Given the description of an element on the screen output the (x, y) to click on. 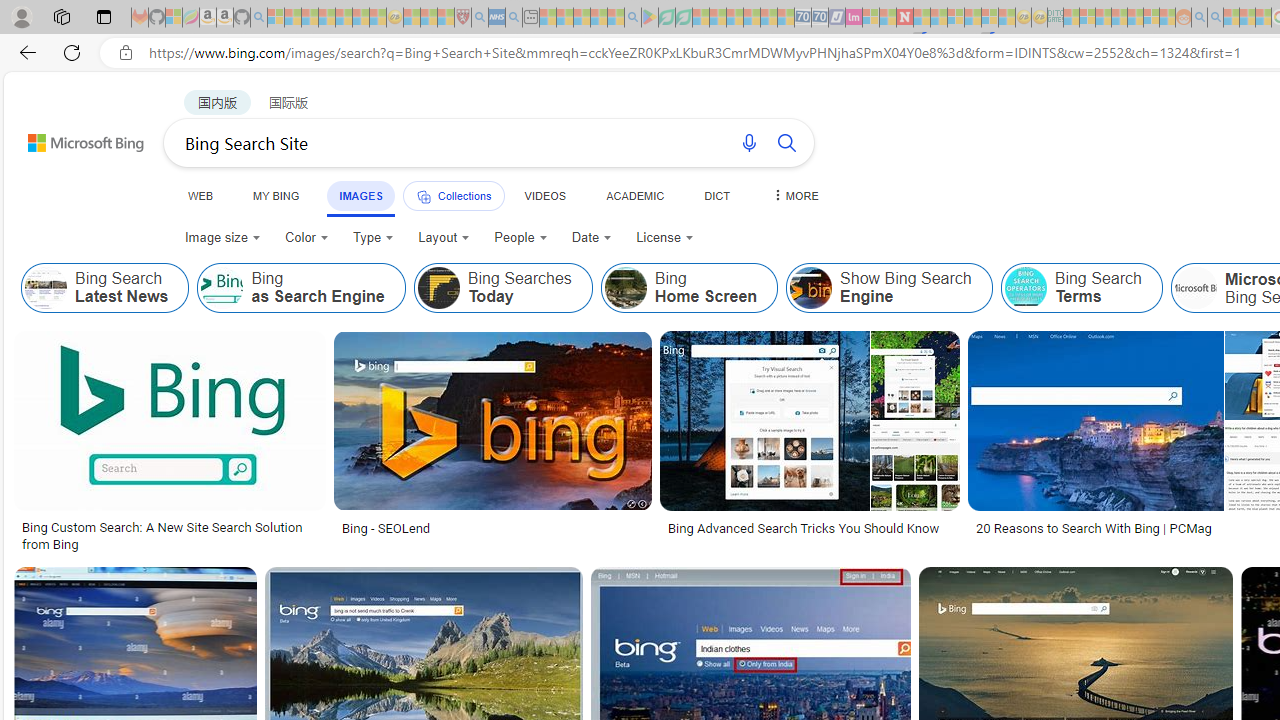
Dropdown Menu (793, 195)
Color (305, 237)
ACADEMIC (635, 195)
WEB (201, 195)
Bing Custom Search: A New Site Search Solution from BingSave (174, 444)
Type (372, 237)
